Given the description of an element on the screen output the (x, y) to click on. 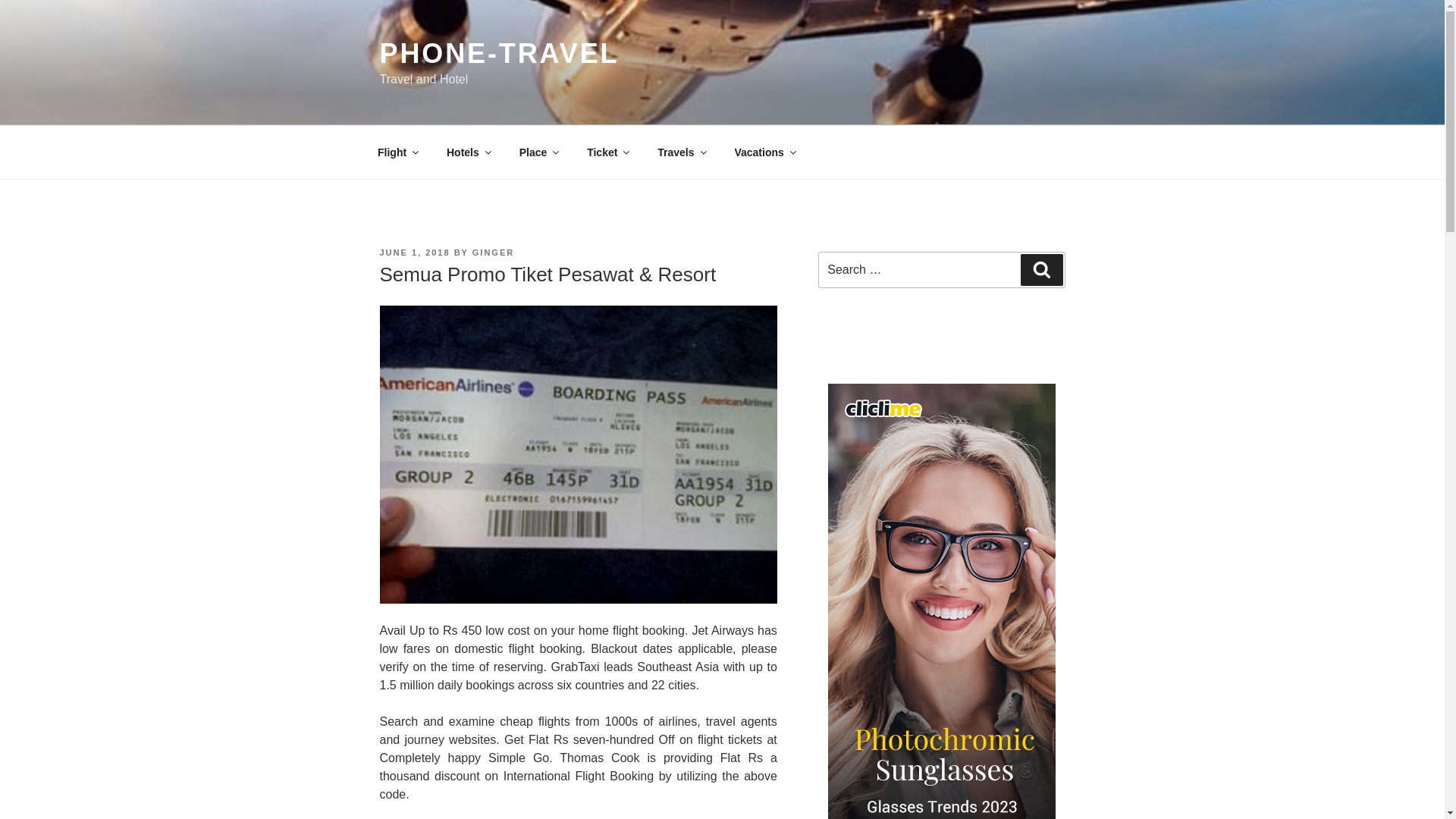
PHONE-TRAVEL (498, 52)
JUNE 1, 2018 (413, 252)
Flight (396, 151)
Travels (681, 151)
Ticket (607, 151)
Vacations (764, 151)
Place (537, 151)
GINGER (492, 252)
Hotels (468, 151)
